Given the description of an element on the screen output the (x, y) to click on. 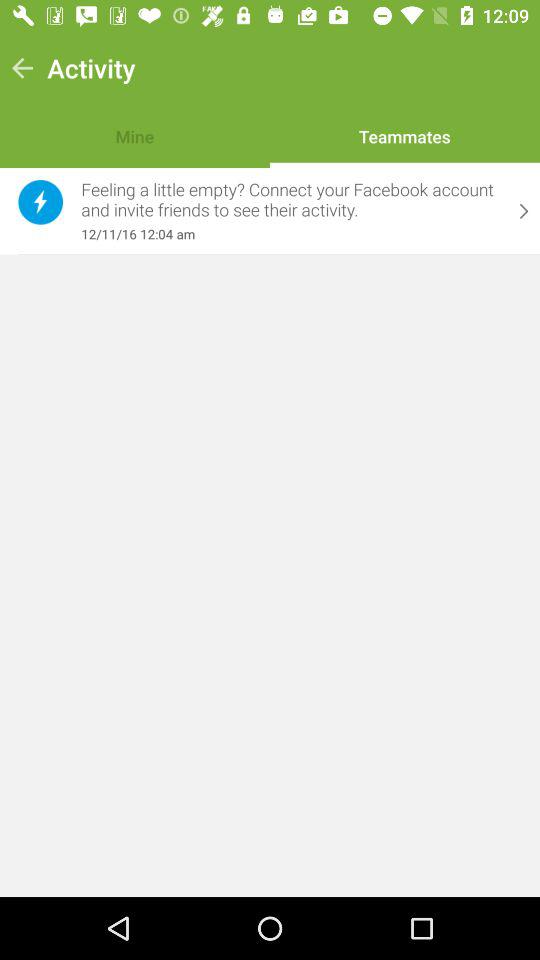
open the item below the mine (291, 200)
